Given the description of an element on the screen output the (x, y) to click on. 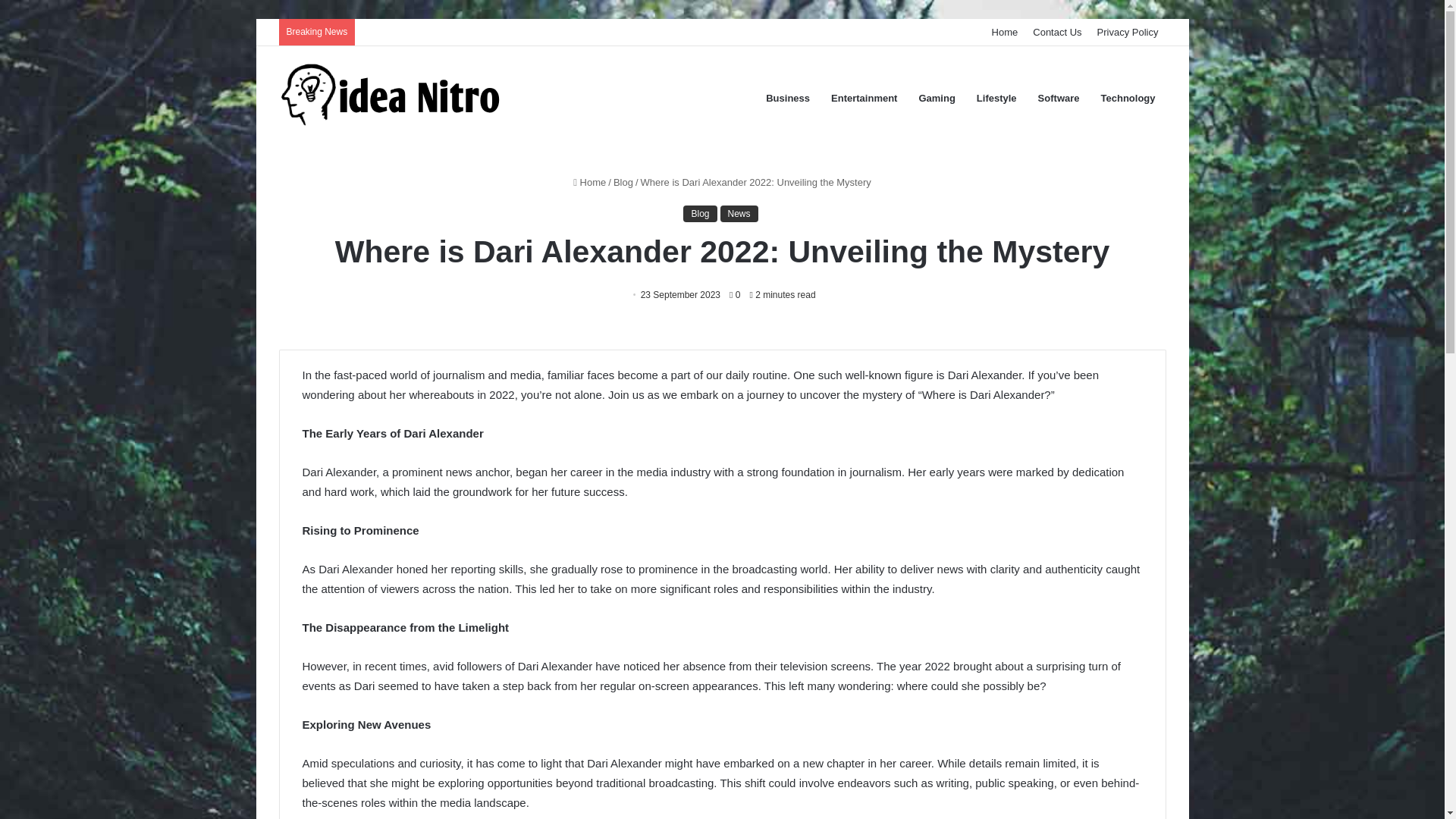
Blog (699, 213)
Home (589, 182)
News (739, 213)
Contact Us (1057, 31)
Blog (622, 182)
Home (1005, 31)
Privacy Policy (1127, 31)
Idea Nitro (392, 98)
